Given the description of an element on the screen output the (x, y) to click on. 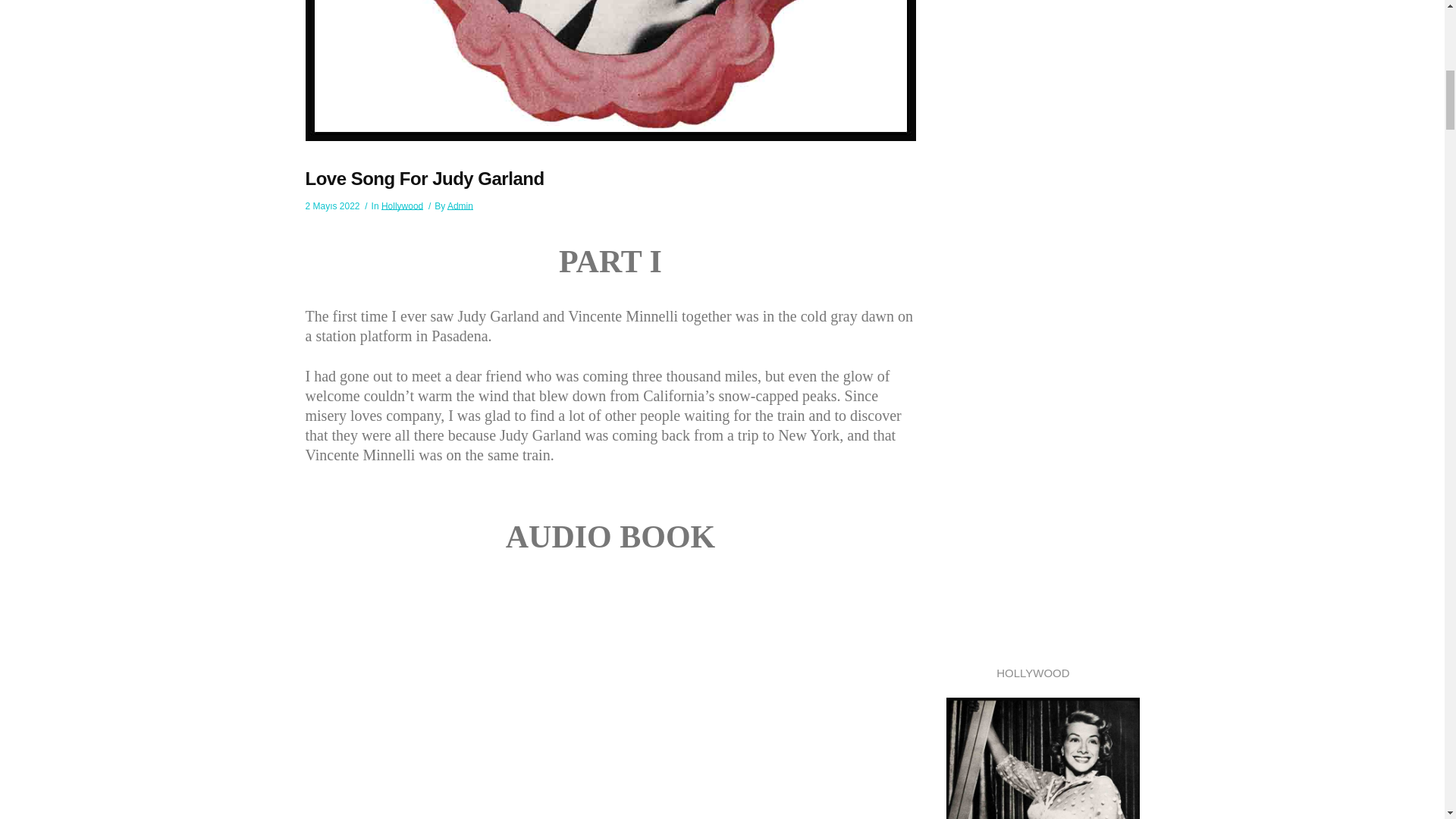
Advertisement (1059, 287)
Hollywood (402, 205)
